Given the description of an element on the screen output the (x, y) to click on. 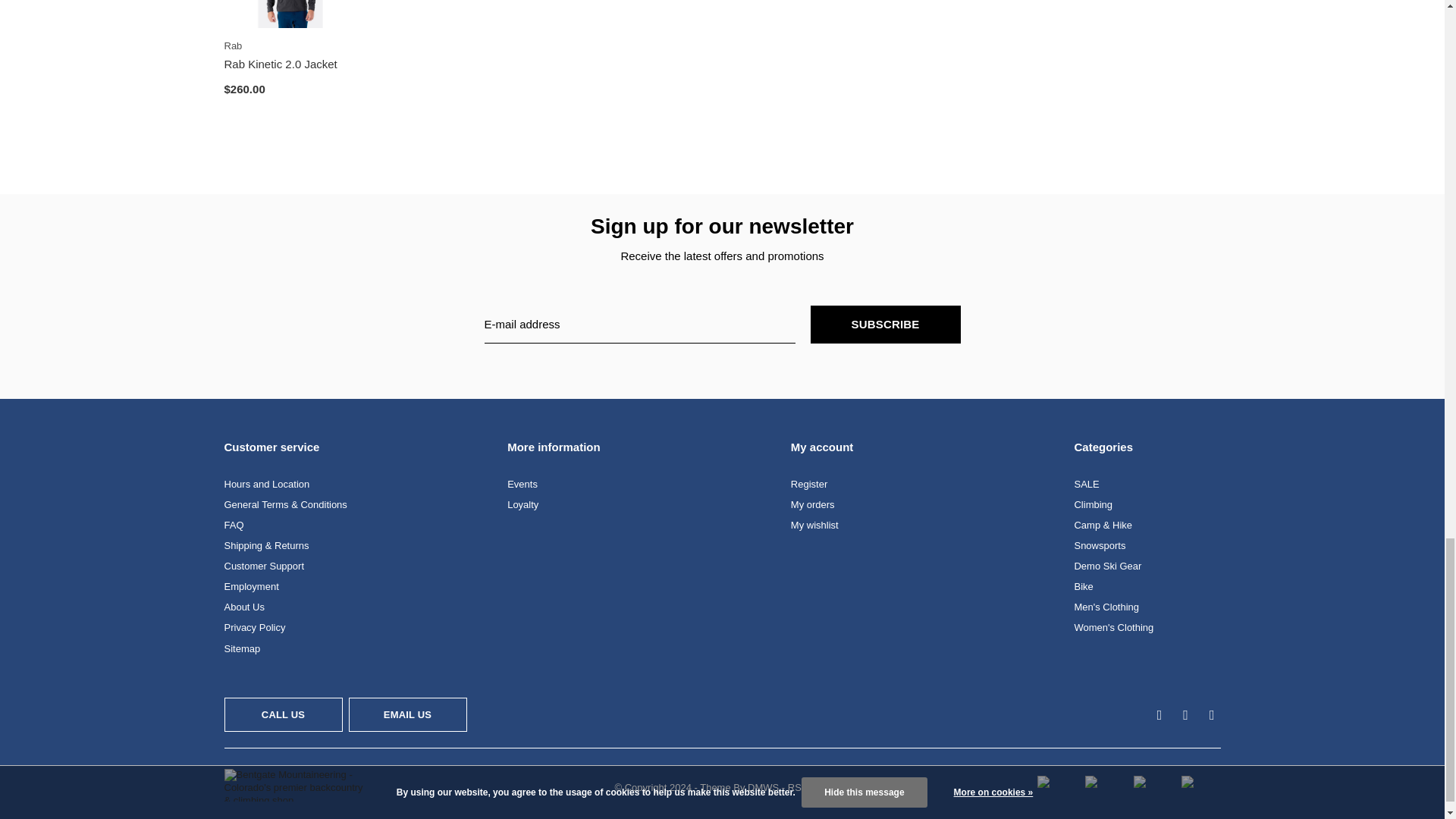
Register (808, 483)
My orders (812, 504)
My wishlist (814, 524)
